Given the description of an element on the screen output the (x, y) to click on. 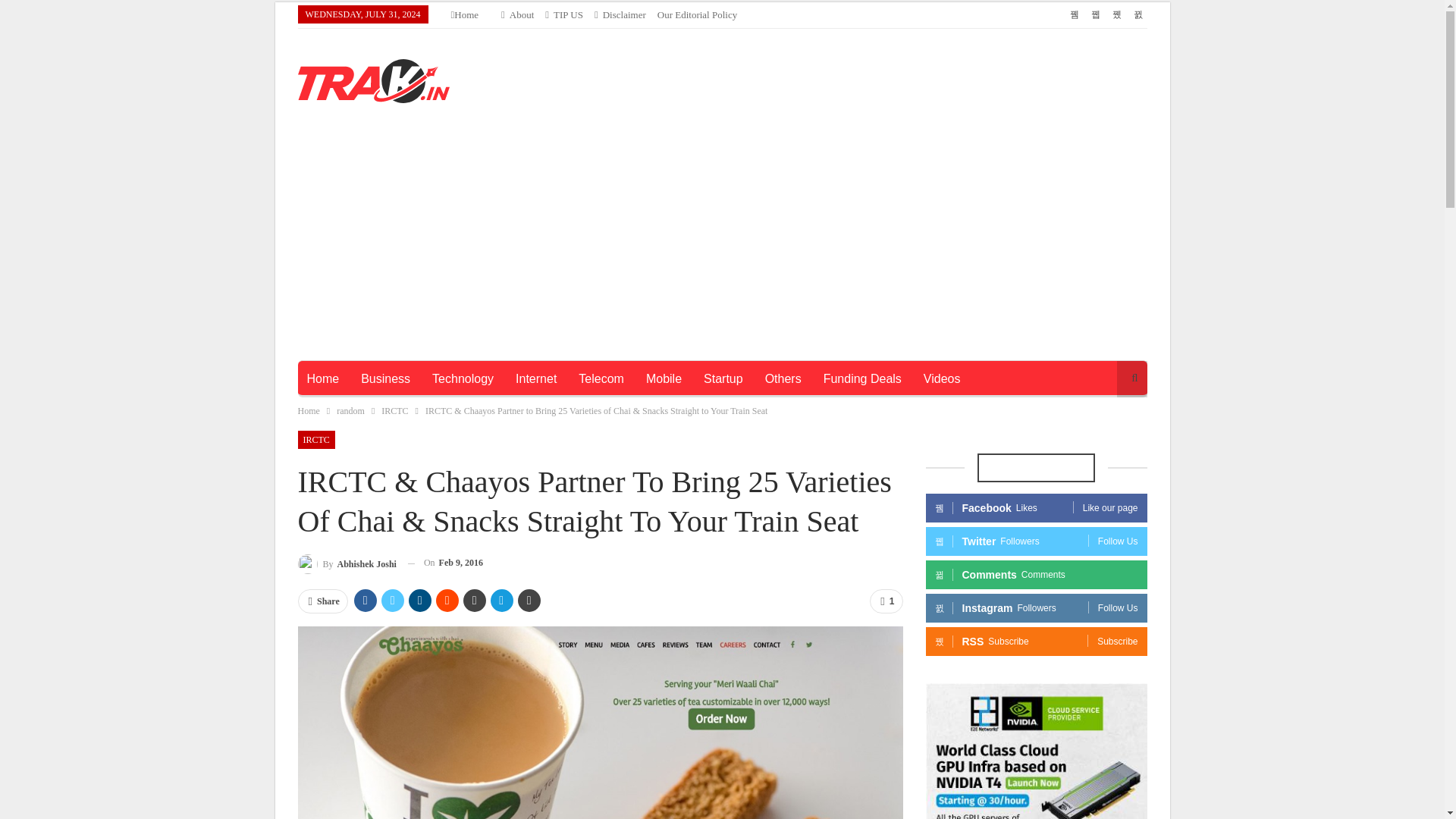
Internet (536, 151)
Others (782, 151)
Home (322, 151)
Home (458, 14)
Browse Author Articles (346, 335)
Disclaimer (614, 14)
About (511, 14)
IRCTC (315, 212)
TIP US (557, 14)
Technology (462, 151)
